Given the description of an element on the screen output the (x, y) to click on. 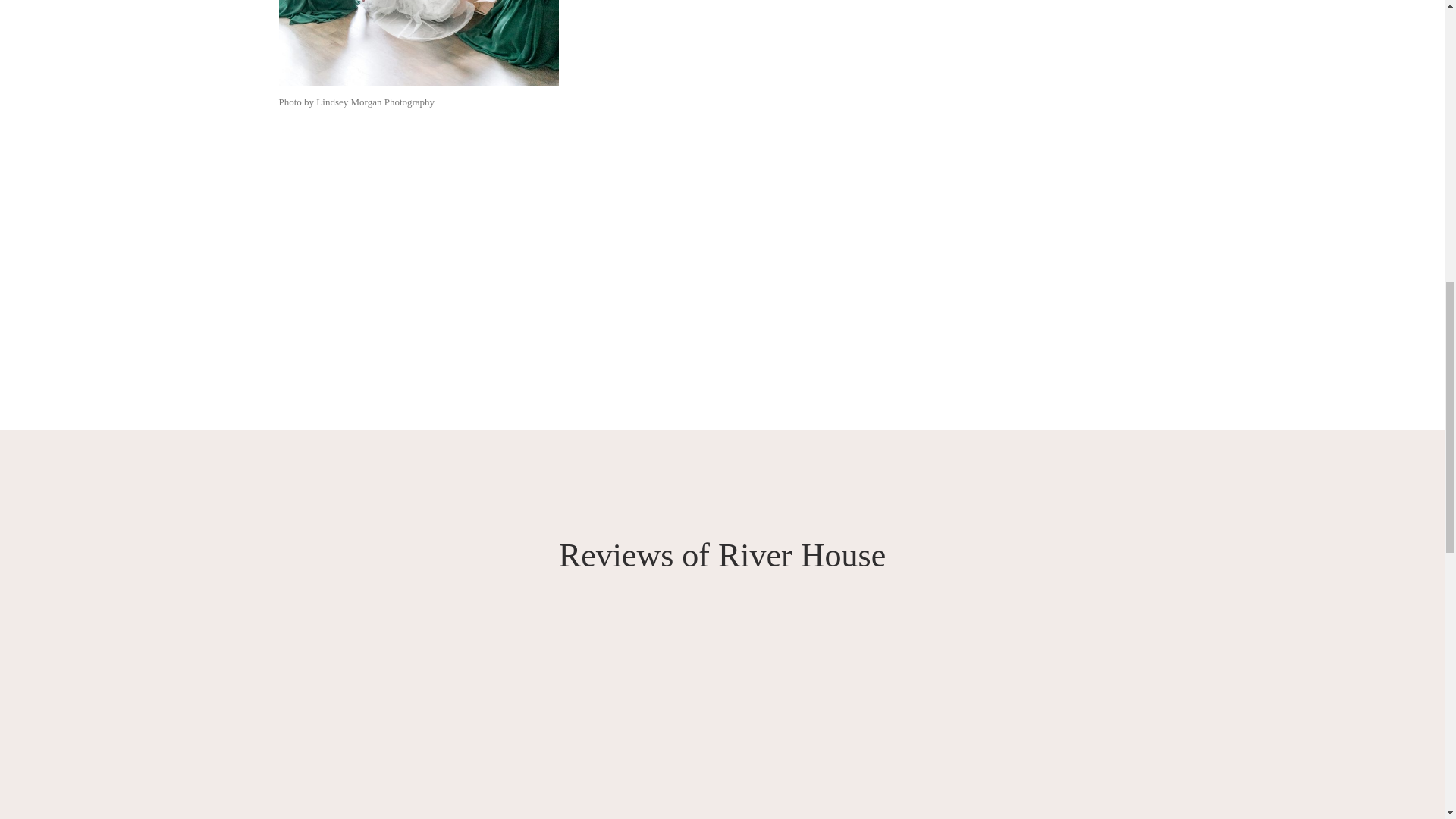
Photo by Lindsey Morgan Photography (419, 43)
